Given the description of an element on the screen output the (x, y) to click on. 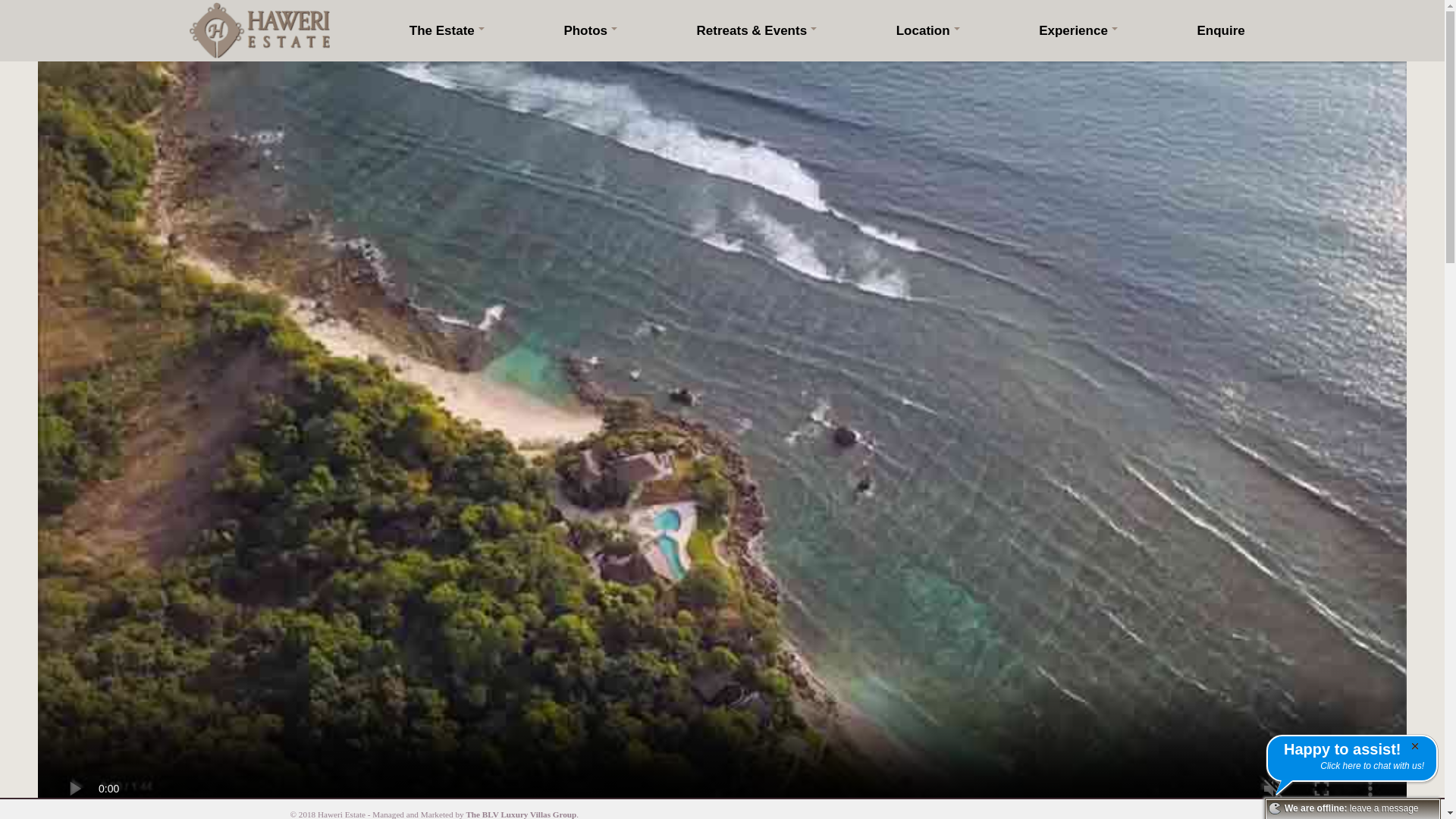
Home (259, 30)
Operators not available. (1274, 808)
